Given the description of an element on the screen output the (x, y) to click on. 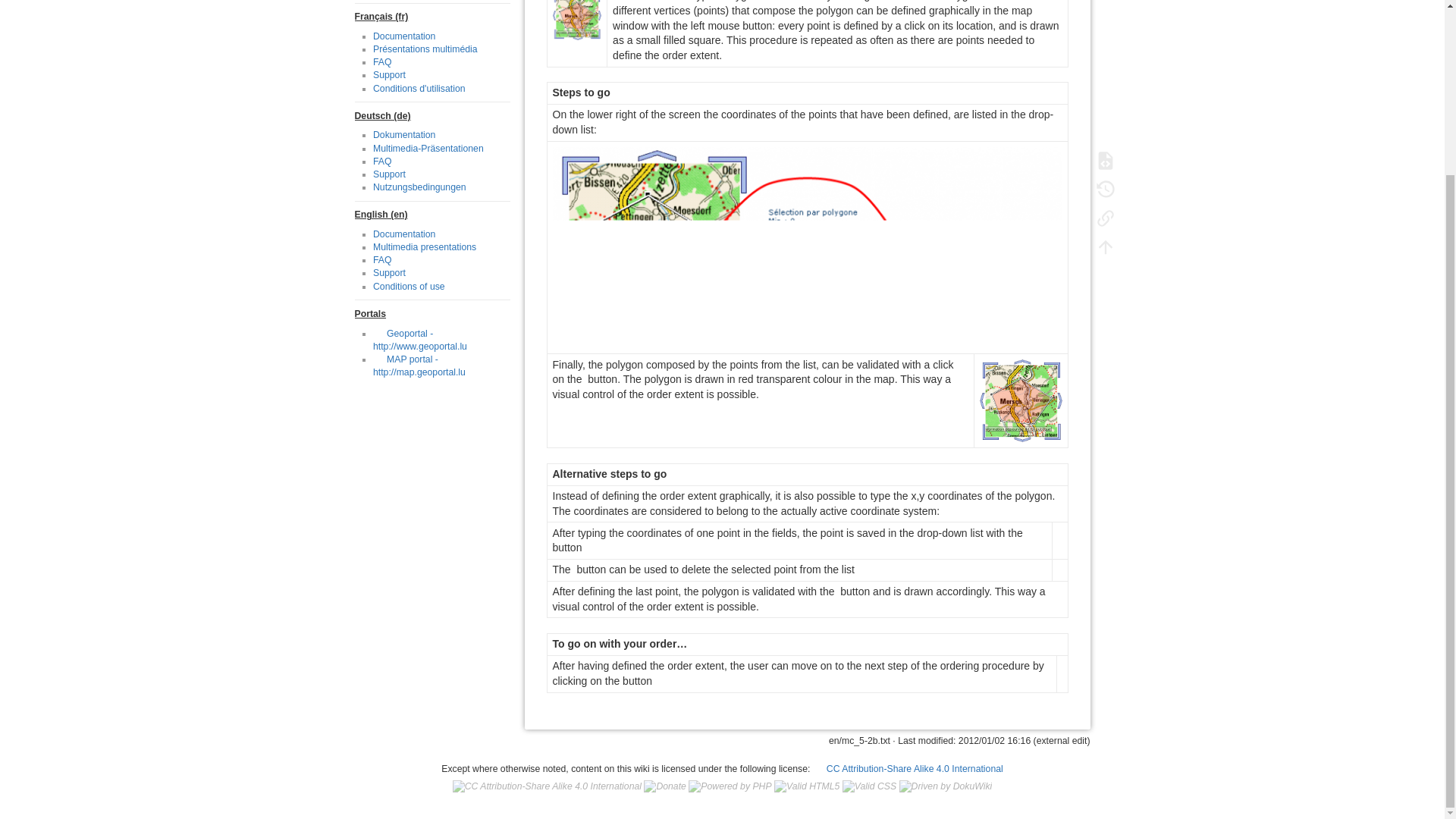
Support (389, 272)
Conditions d'utilisation (418, 88)
Dokumentation (403, 134)
FAQ (381, 161)
Documentation (403, 234)
Documentation (403, 36)
Conditions of use (408, 286)
FAQ (381, 61)
Support (389, 74)
Support (389, 173)
Nutzungsbedingungen (418, 186)
FAQ (381, 259)
Multimedia presentations (424, 246)
